Given the description of an element on the screen output the (x, y) to click on. 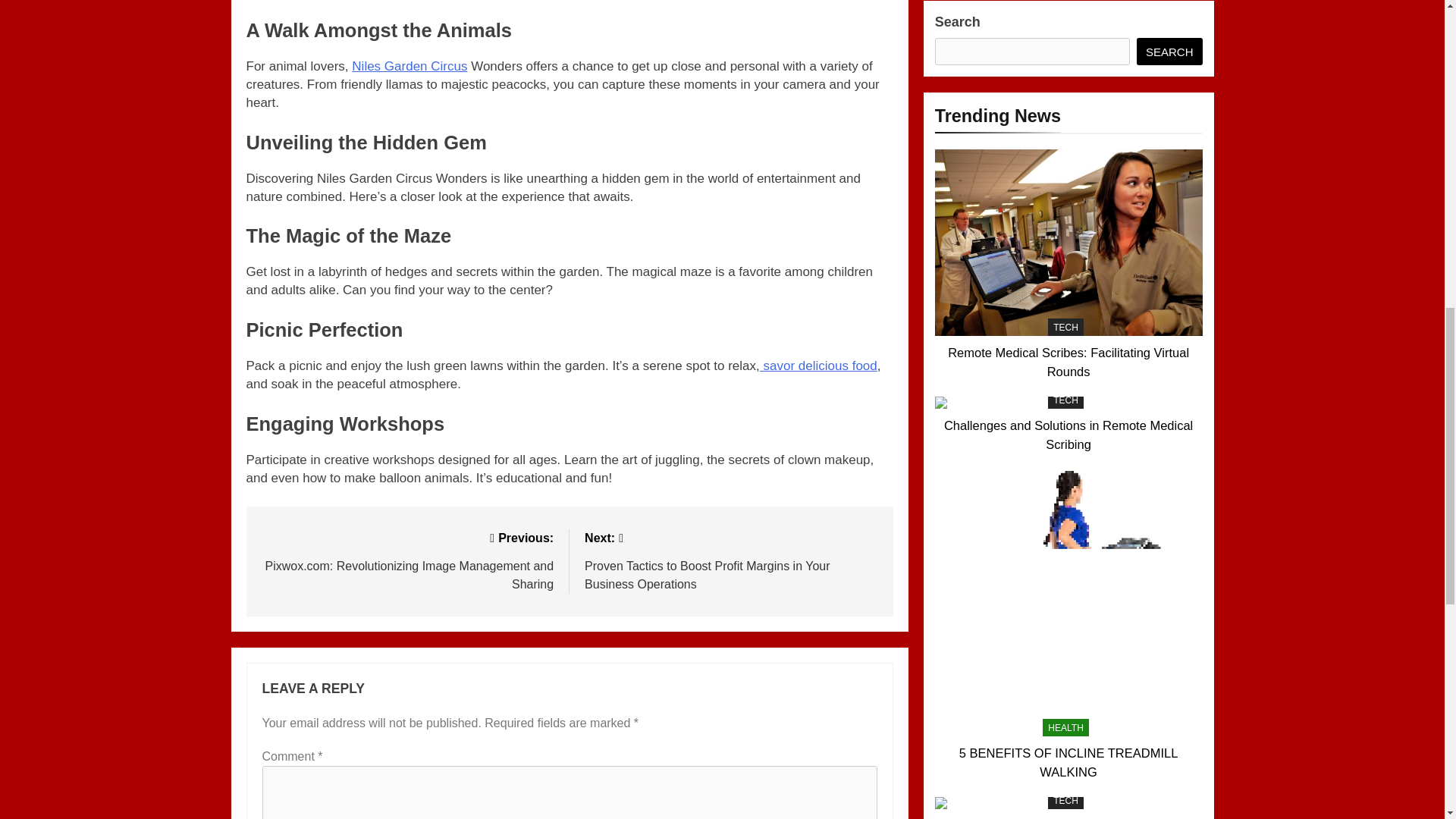
savor delicious food (818, 365)
Niles Garden Circus (409, 65)
